Given the description of an element on the screen output the (x, y) to click on. 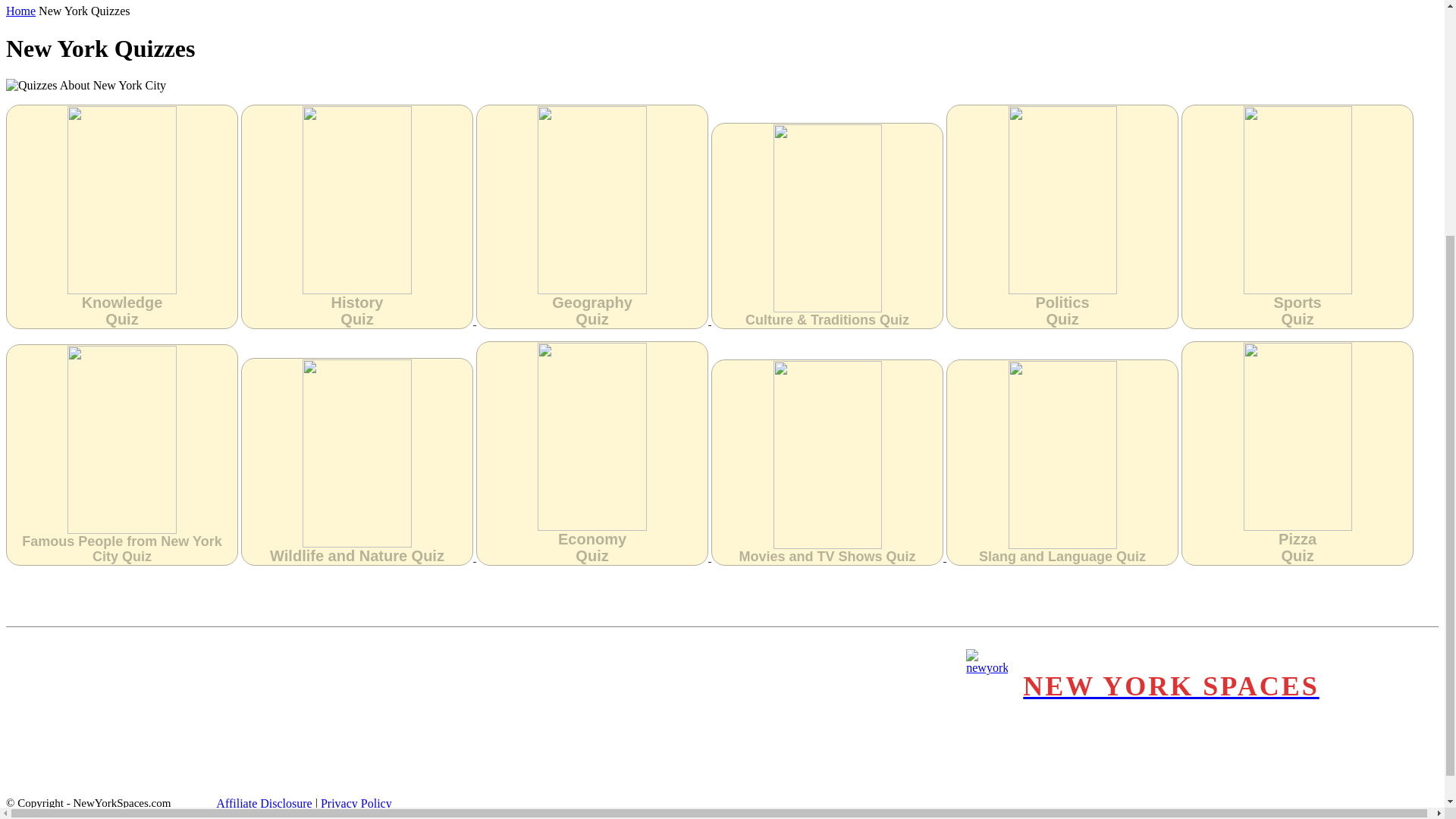
newyorkspaces (986, 686)
Instagram (1404, 671)
newyorkspaces (1142, 686)
Twitter (1404, 701)
Facebook (1376, 671)
TikTok (1376, 701)
